Given the description of an element on the screen output the (x, y) to click on. 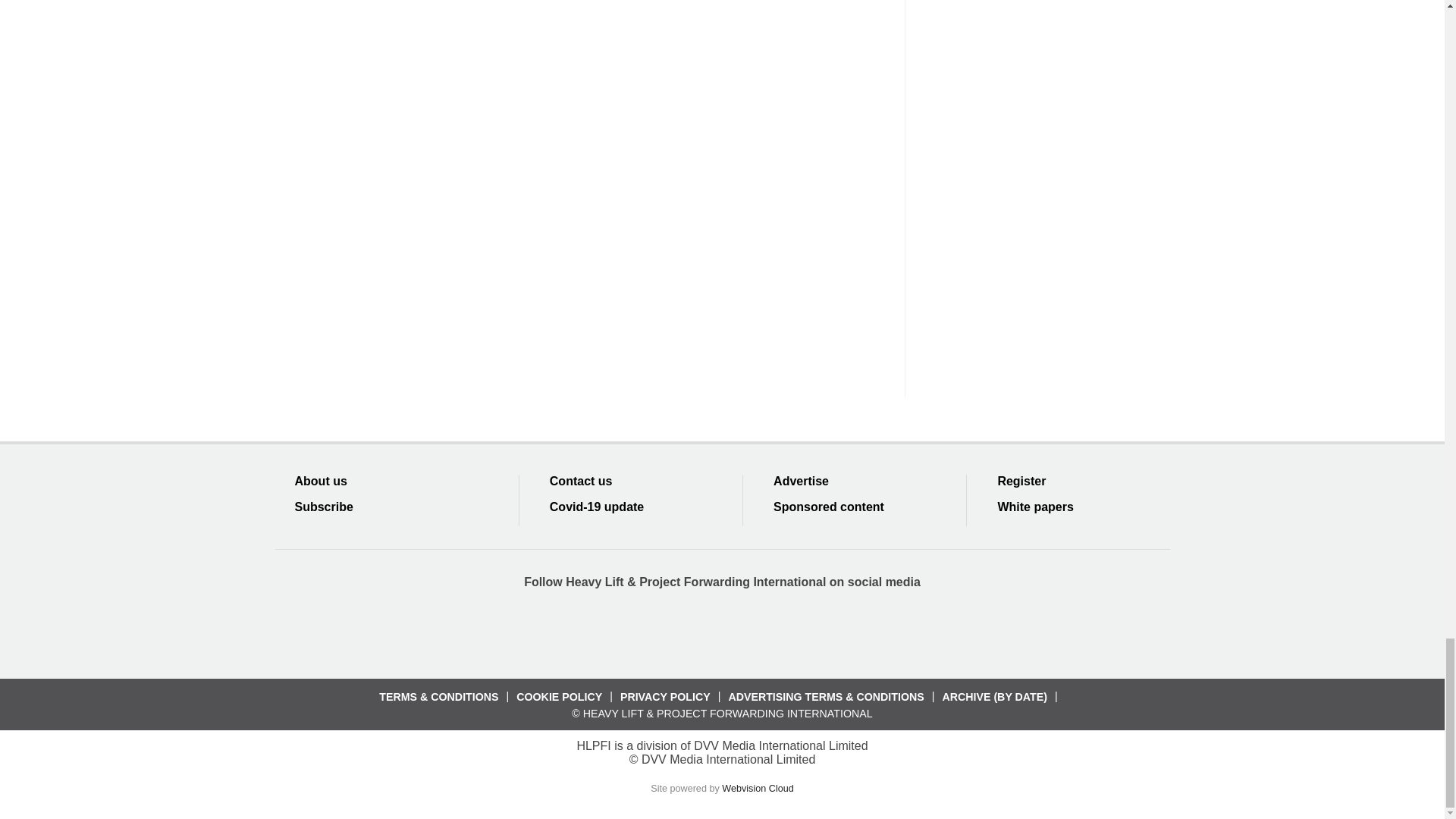
Connect with us on Instagram (831, 631)
Connect with us on Facebook (611, 631)
Email us (776, 631)
Connect with us on Twitter (667, 631)
Connect with us on LinkedIn (721, 631)
